Given the description of an element on the screen output the (x, y) to click on. 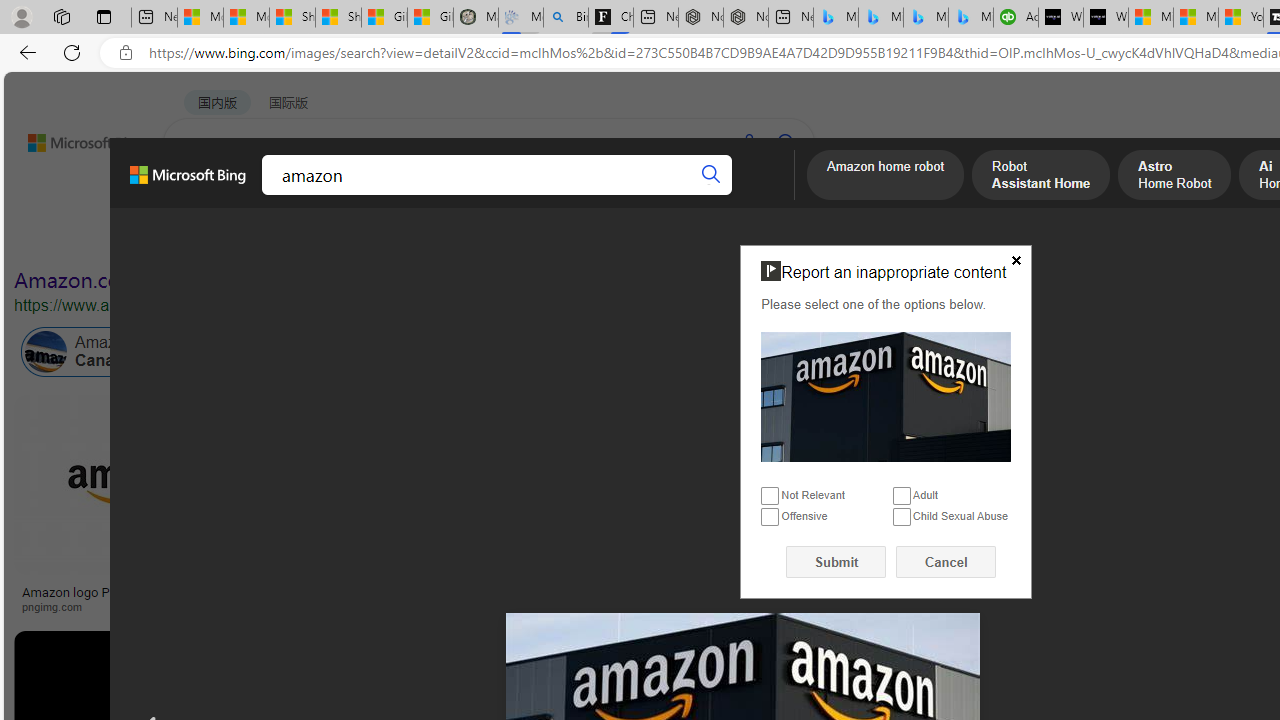
Robot Assistant Home (1041, 177)
Image size (222, 237)
aiophotoz.com (983, 606)
People (521, 237)
Alexa Smart Home Devices (1183, 584)
Amazon Animals (706, 351)
Child Sexual Abuse (901, 517)
License (665, 237)
Layout (443, 237)
DICT (630, 195)
pngimg.com (133, 606)
